Given the description of an element on the screen output the (x, y) to click on. 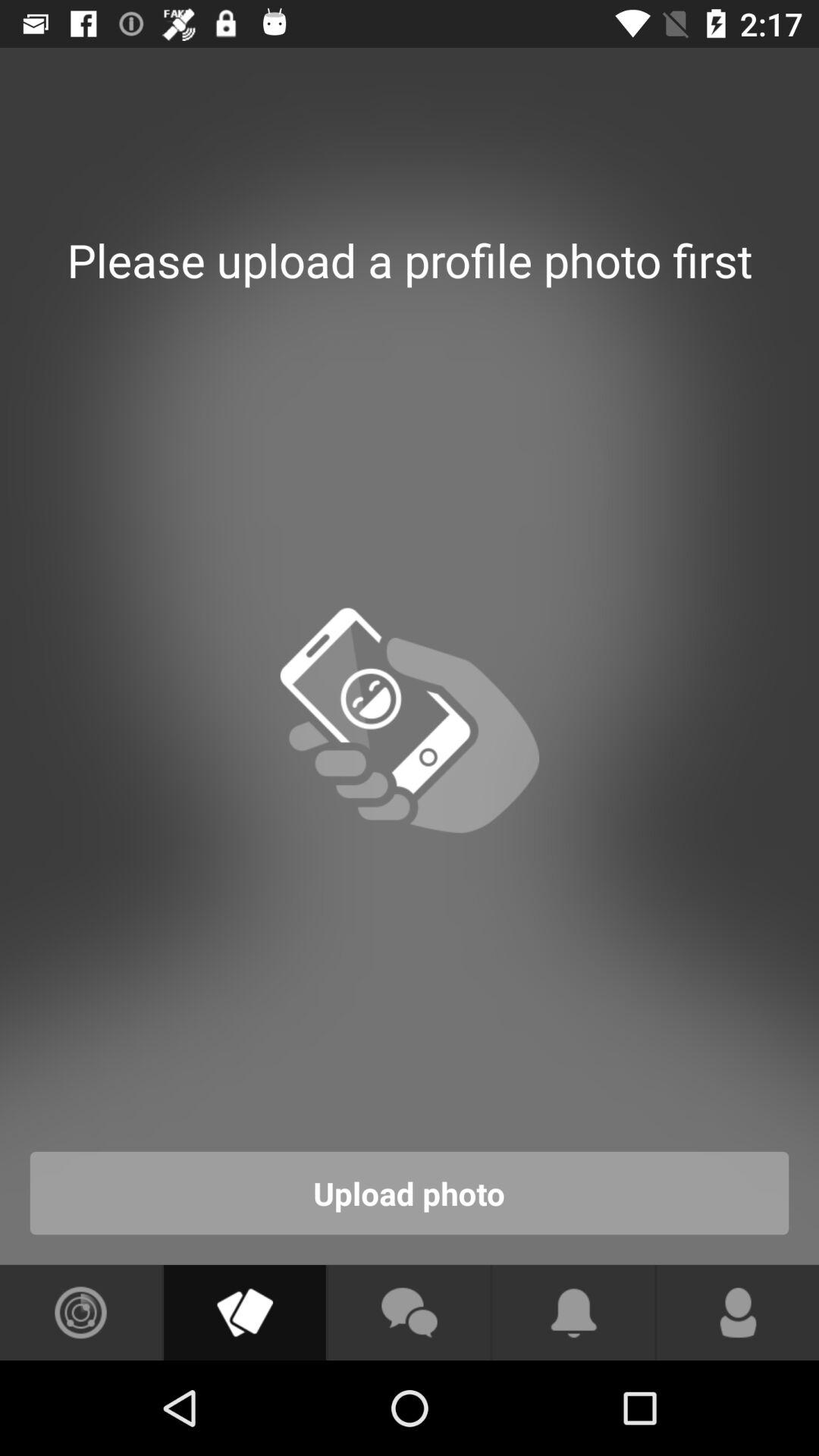
see photos (80, 1312)
